Given the description of an element on the screen output the (x, y) to click on. 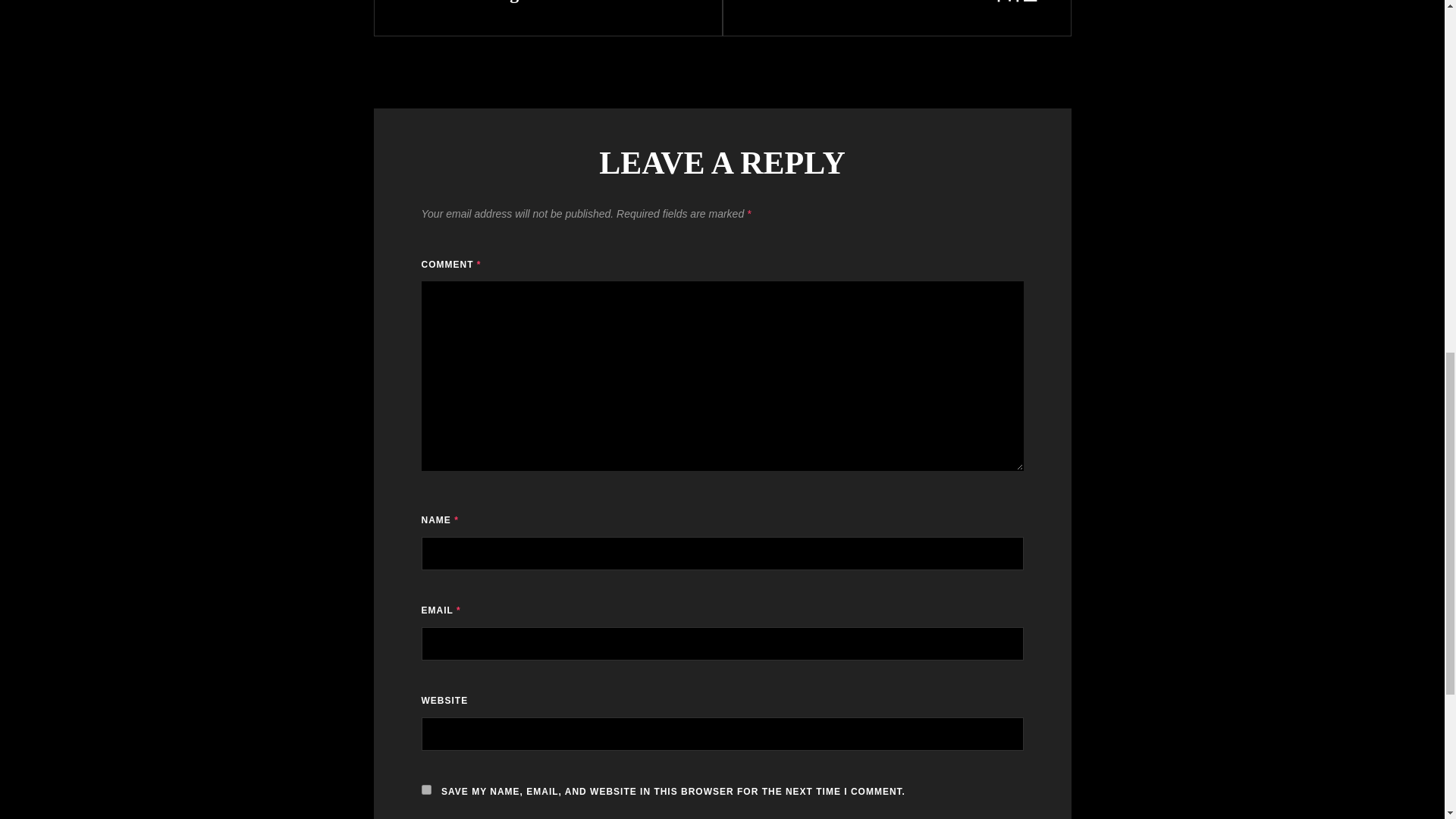
yes (548, 4)
